Given the description of an element on the screen output the (x, y) to click on. 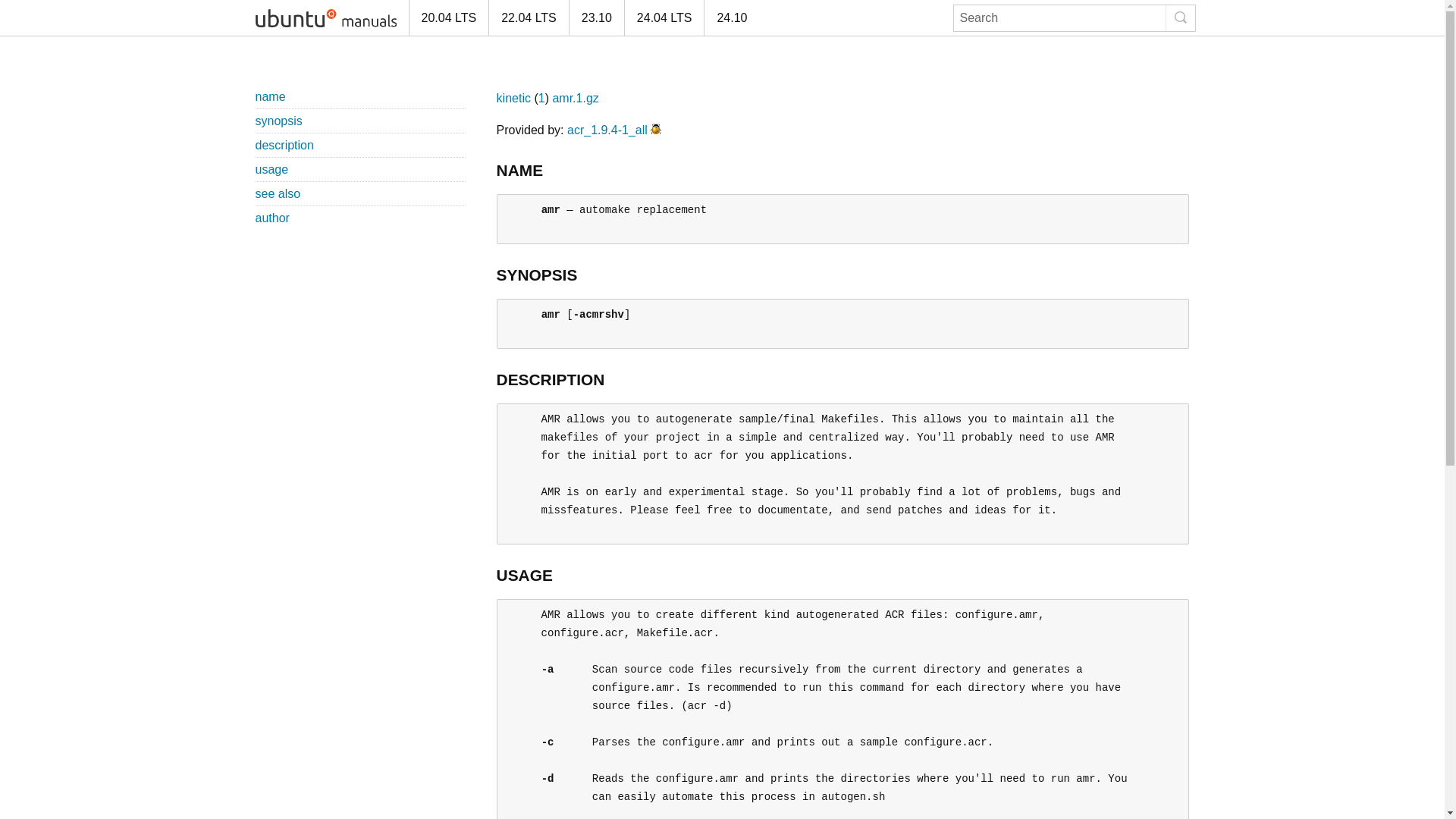
24.04 LTS (664, 18)
1 (541, 97)
usage (271, 169)
author (271, 217)
description (283, 144)
kinetic (513, 97)
see also (276, 193)
Report a bug in the content of this documentation (655, 129)
synopsis (277, 120)
23.10 (596, 18)
amr.1.gz (574, 97)
20.04 LTS (447, 18)
24.10 (730, 18)
22.04 LTS (528, 18)
name (269, 96)
